Given the description of an element on the screen output the (x, y) to click on. 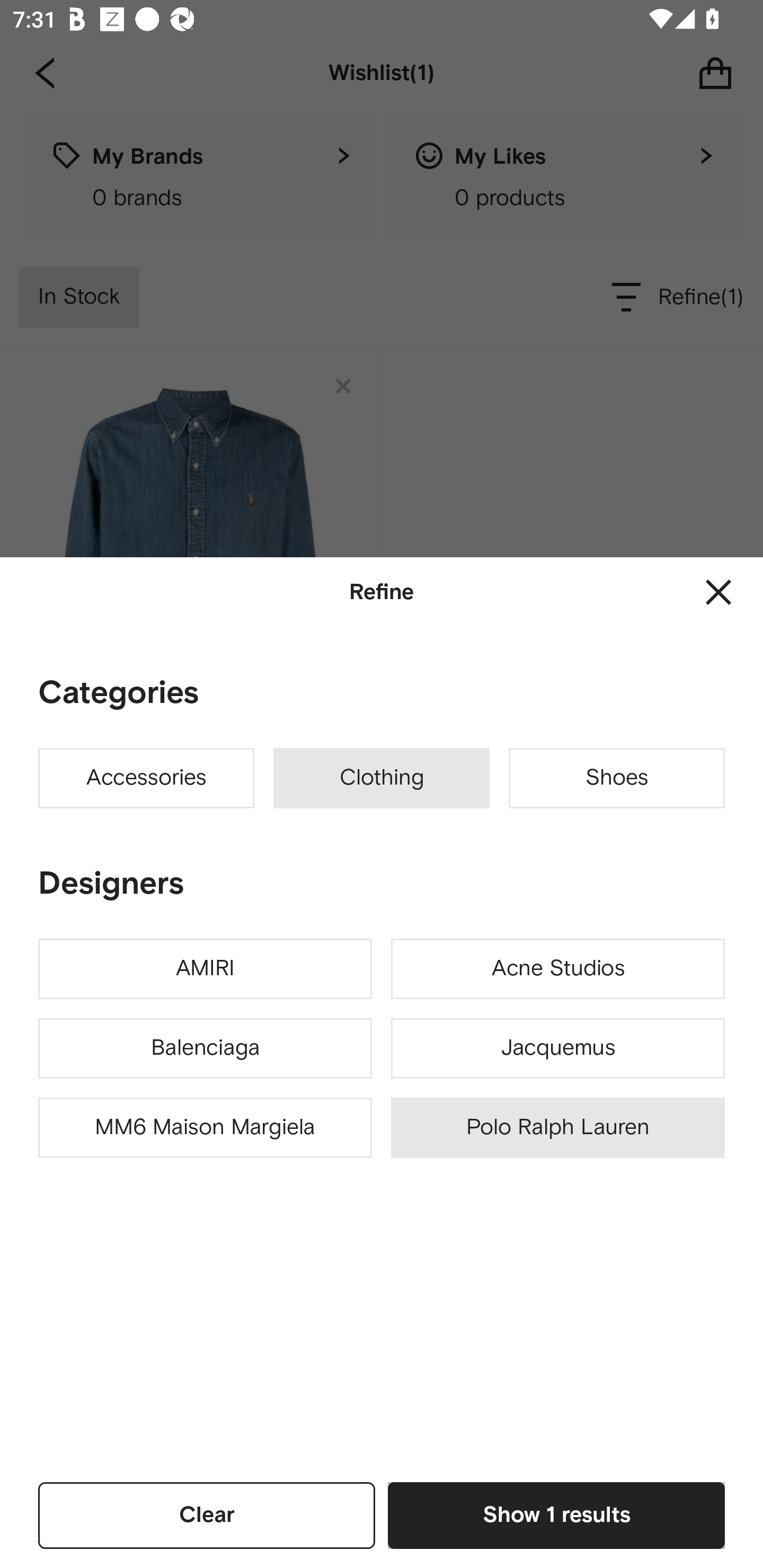
Accessories (146, 778)
Clothing (381, 778)
Shoes (616, 778)
AMIRI (205, 968)
Acne Studios (557, 968)
Balenciaga (205, 1047)
Jacquemus (557, 1047)
MM6 Maison Margiela (205, 1127)
Polo Ralph Lauren (557, 1127)
Clear (206, 1515)
Show 1 results (555, 1515)
